Given the description of an element on the screen output the (x, y) to click on. 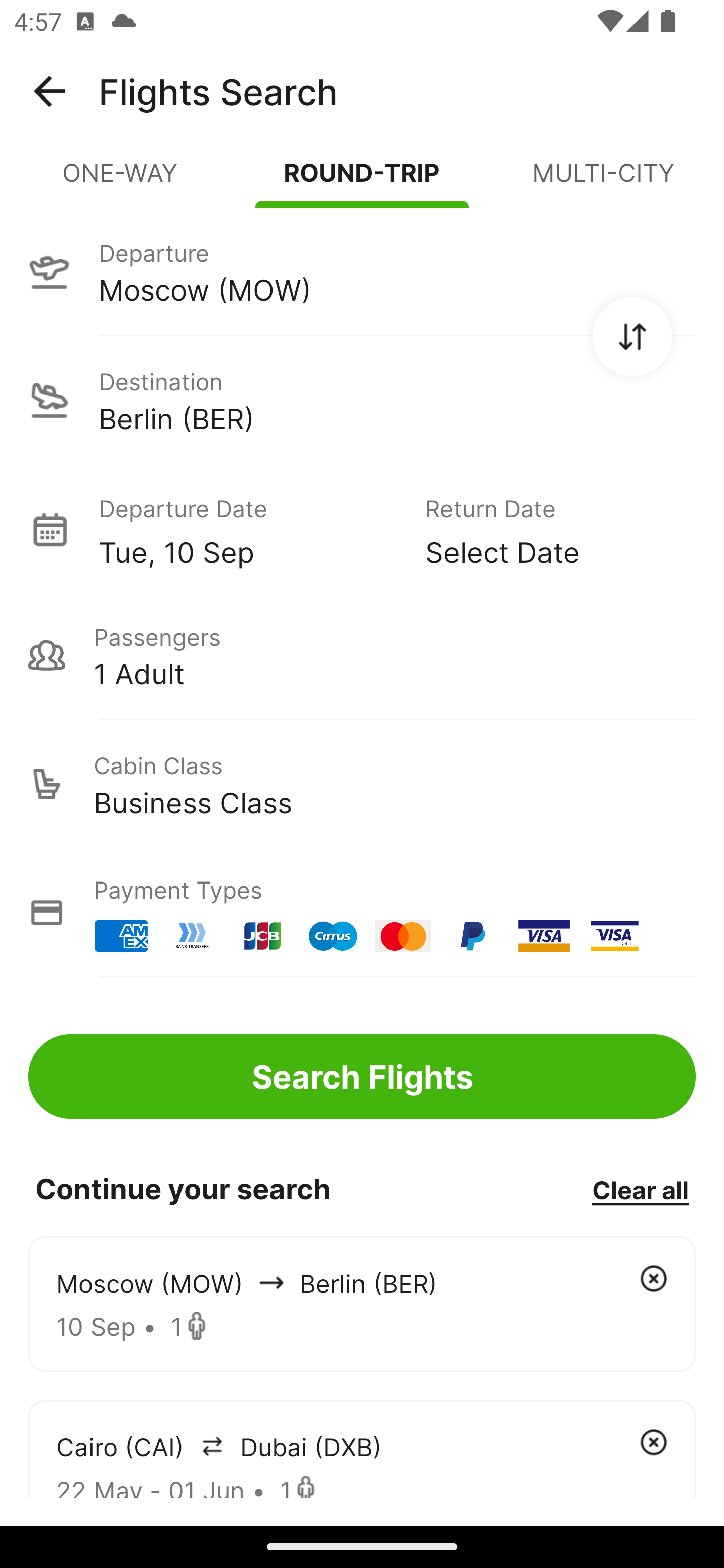
ONE-WAY (120, 180)
ROUND-TRIP (361, 180)
MULTI-CITY (603, 180)
Departure Moscow (MOW) (362, 270)
Destination Berlin (BER) (362, 400)
Departure Date Tue, 10 Sep (247, 528)
Return Date Select Date (546, 528)
Passengers 1 Adult (362, 655)
Cabin Class Business Class (362, 783)
Payment Types (362, 912)
Search Flights (361, 1075)
Clear all (640, 1189)
Moscow (MOW)  arrowIcon  Berlin (BER) 10 Sep •  1  (361, 1303)
